Given the description of an element on the screen output the (x, y) to click on. 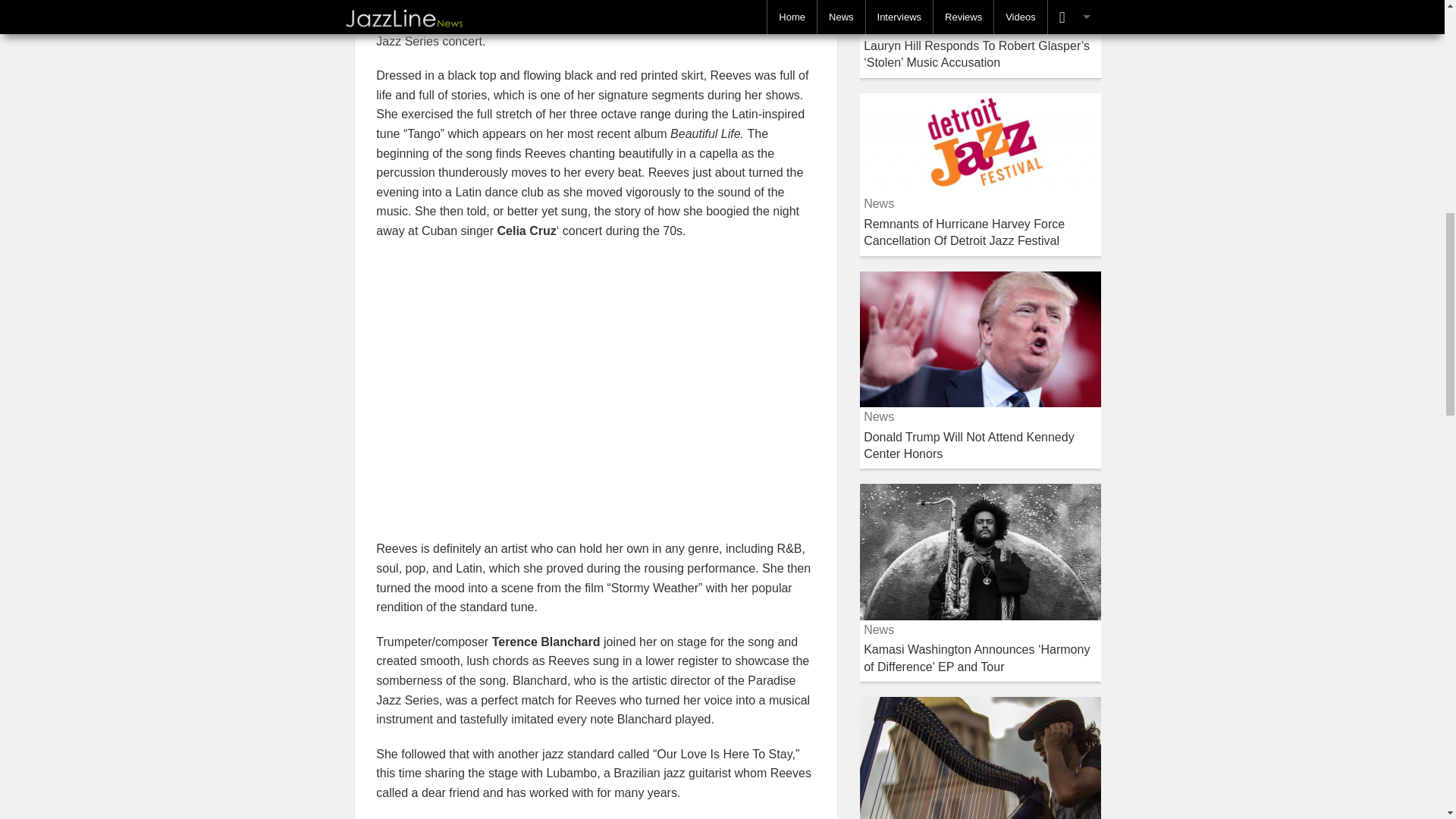
Donald Trump Will Not Attend Kennedy Center Honors (968, 445)
Donald Trump Will Not Attend Kennedy Center Honors (980, 338)
